Given the description of an element on the screen output the (x, y) to click on. 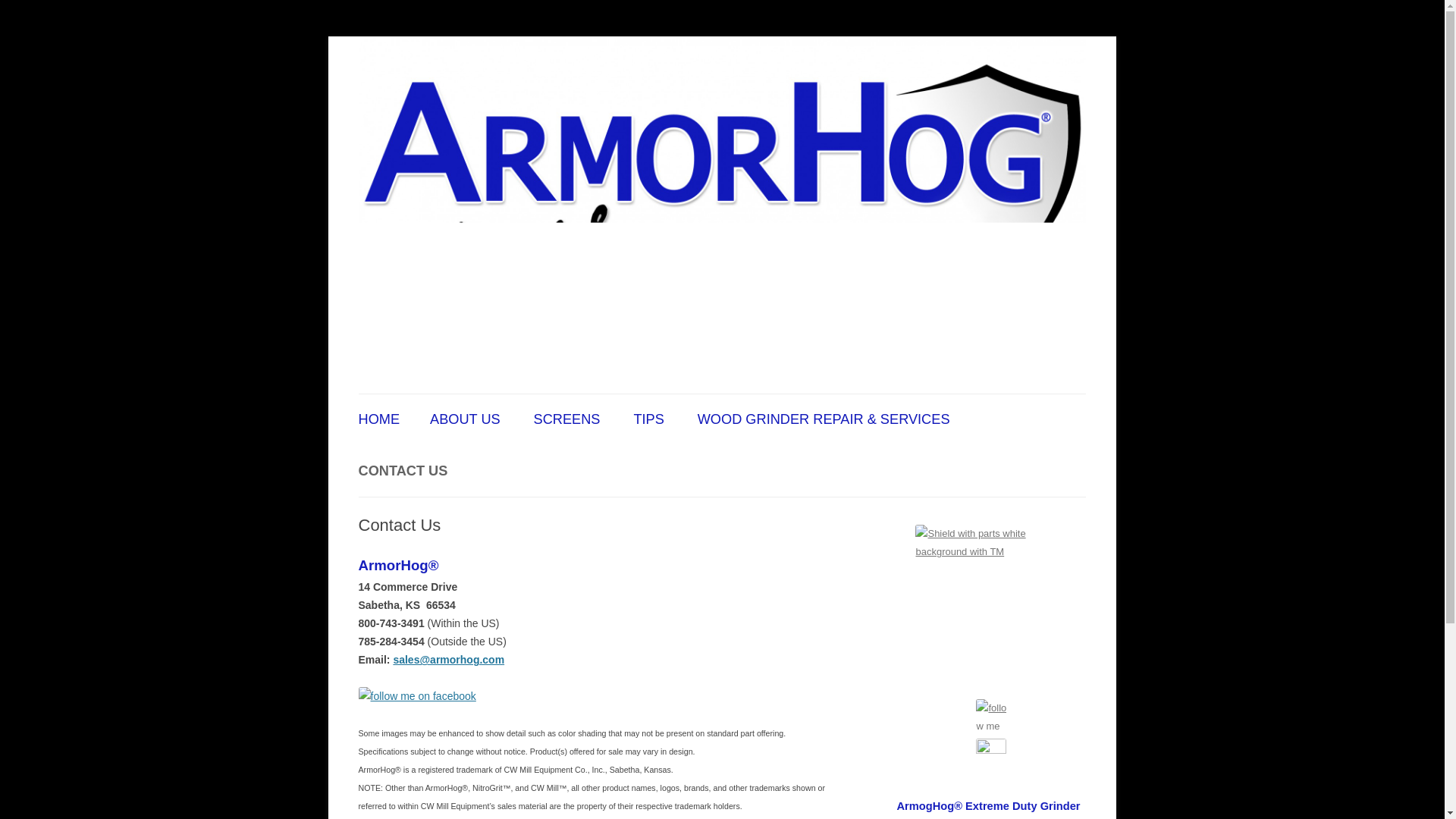
SCREENS (566, 419)
Skip to content (757, 398)
Follow us on Facebook (991, 714)
Skip to content (757, 398)
Follow us on Instagram (991, 765)
follow me on facebook (417, 695)
ABOUT US (464, 419)
CONTACT US (402, 470)
DIESEL TO ELECTRIC POWER CONVERSIONS (810, 475)
